Given the description of an element on the screen output the (x, y) to click on. 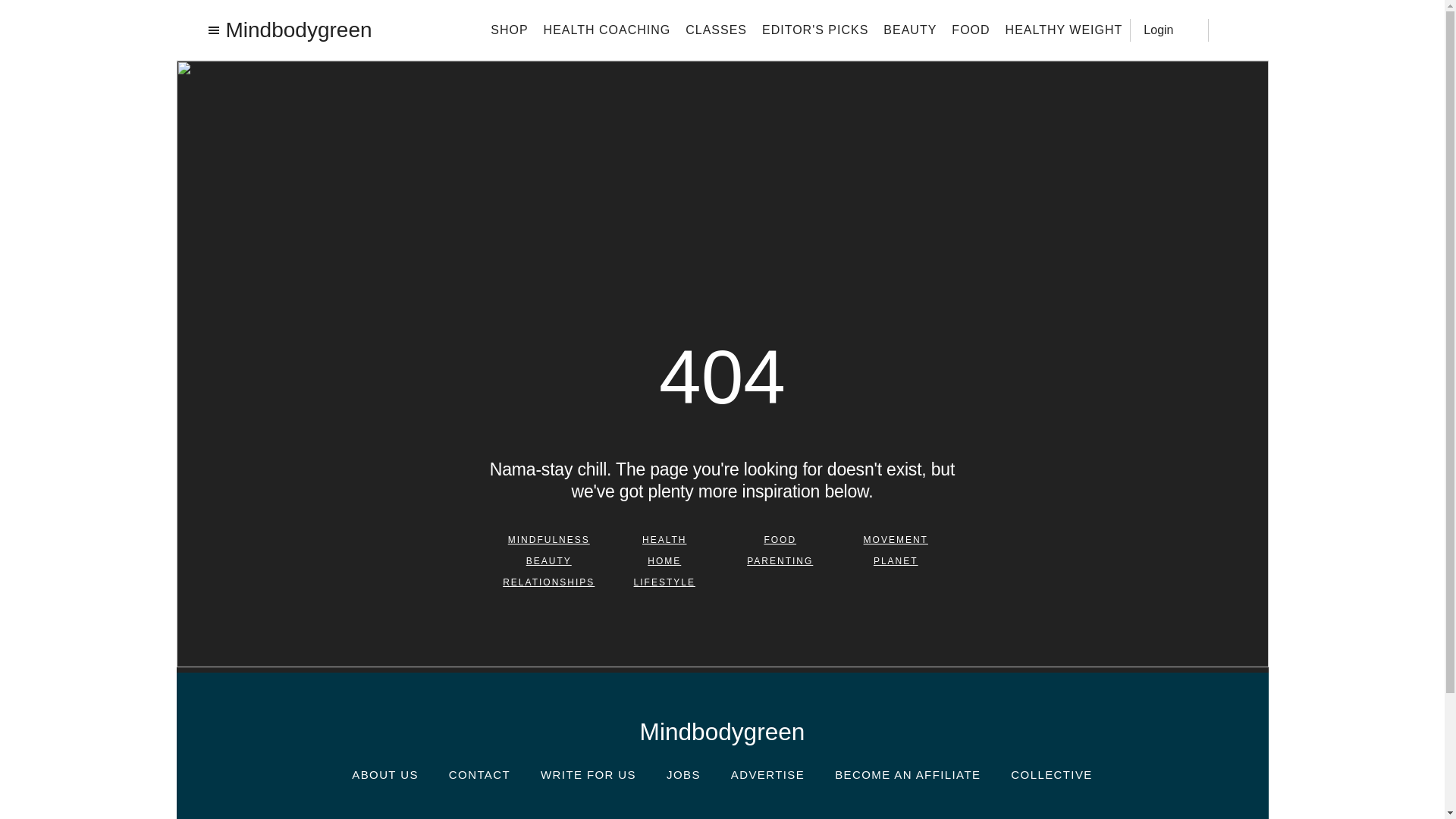
SHOP (508, 29)
FOOD (971, 29)
PLANET (895, 561)
COLLECTIVE (1051, 774)
CLASSES (715, 29)
HOME (664, 561)
CONTACT (479, 774)
Login (1168, 29)
MOVEMENT (895, 539)
BEAUTY (549, 561)
